Given the description of an element on the screen output the (x, y) to click on. 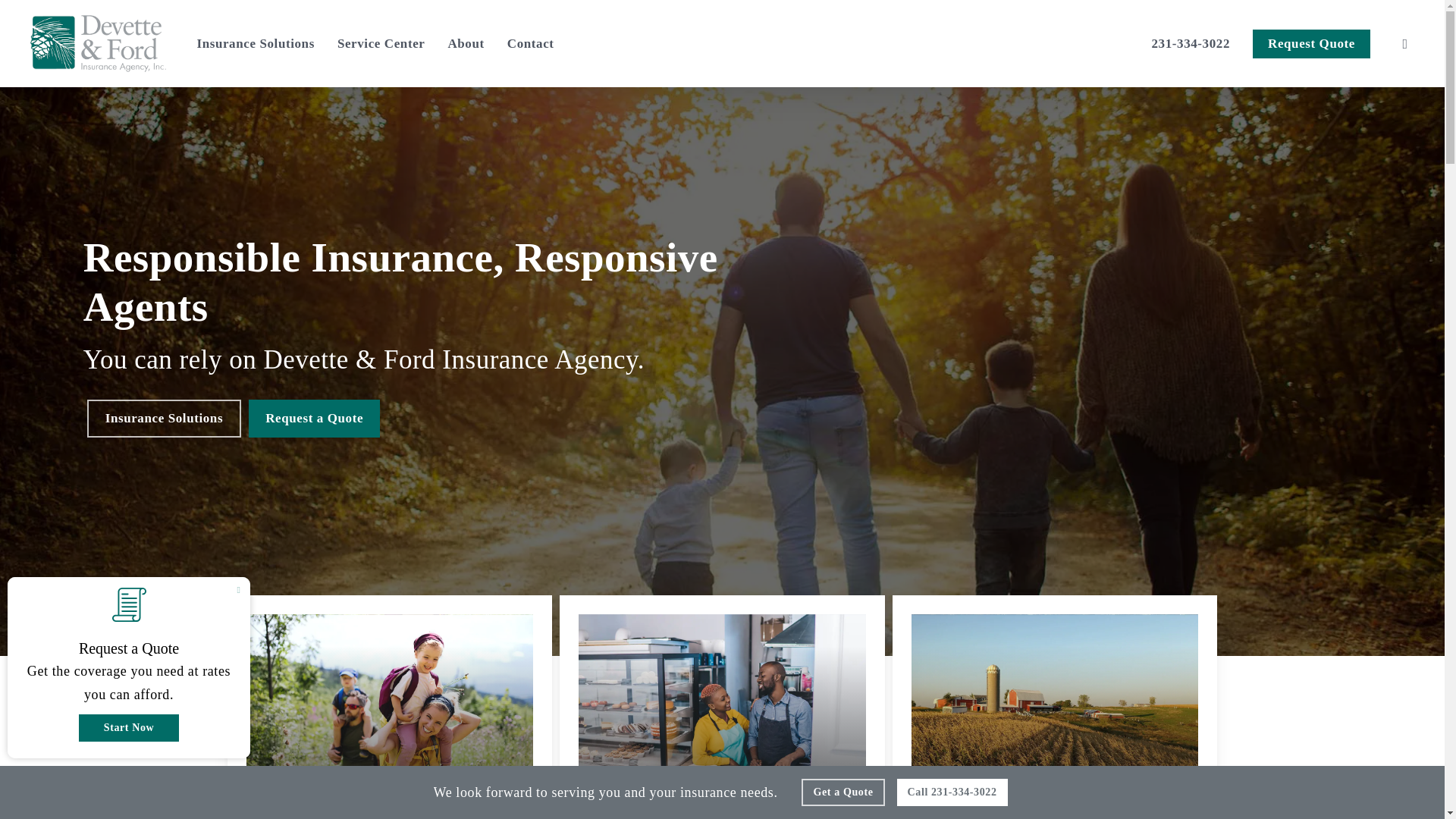
About (464, 43)
Service Center (381, 43)
Contact (530, 43)
Insurance Solutions (255, 43)
We look forward to serving you and your insurance needs. (611, 796)
